Given the description of an element on the screen output the (x, y) to click on. 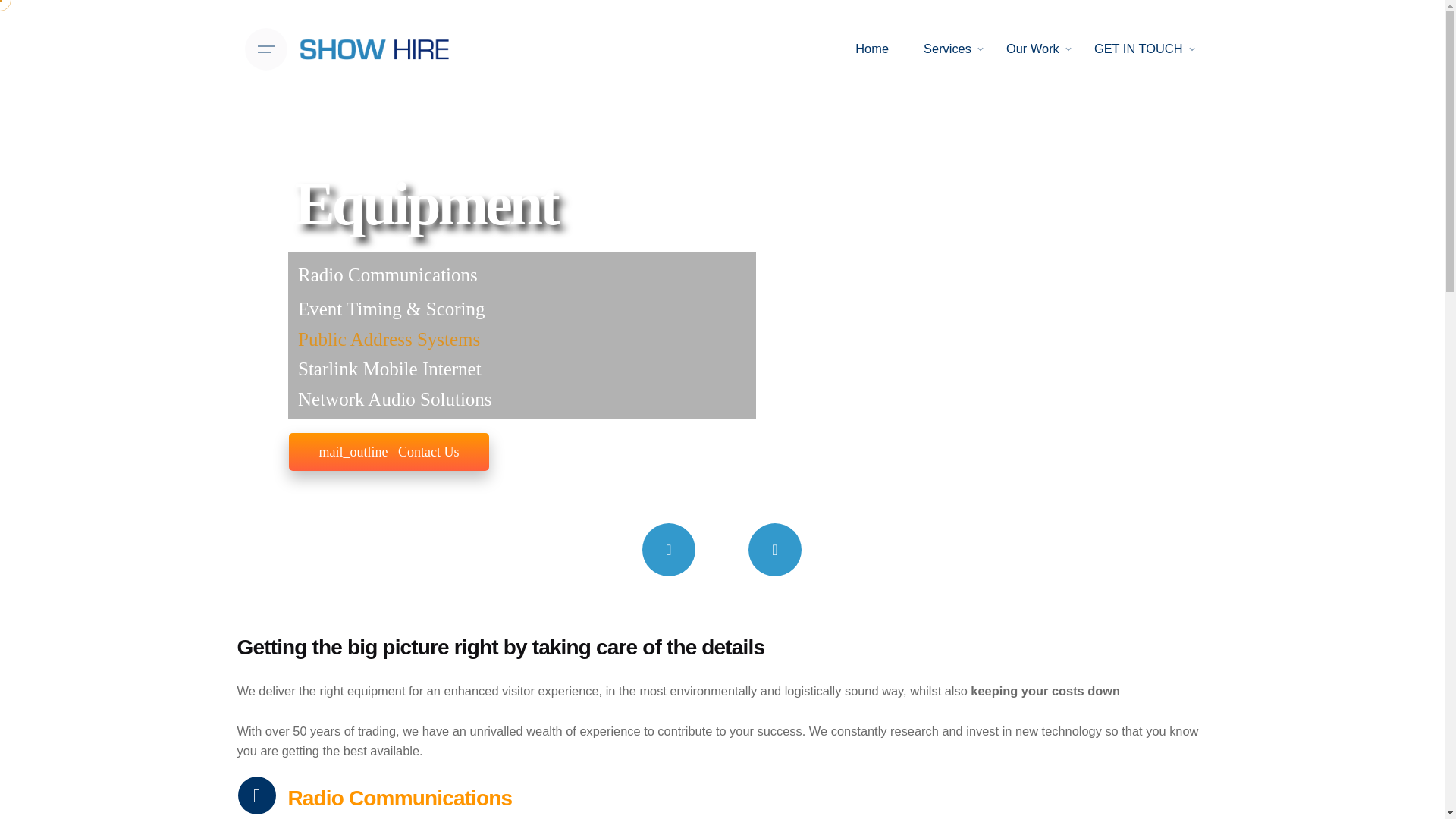
Services (946, 49)
Home (871, 49)
Our Work (1032, 49)
GET IN TOUCH (1138, 49)
